Given the description of an element on the screen output the (x, y) to click on. 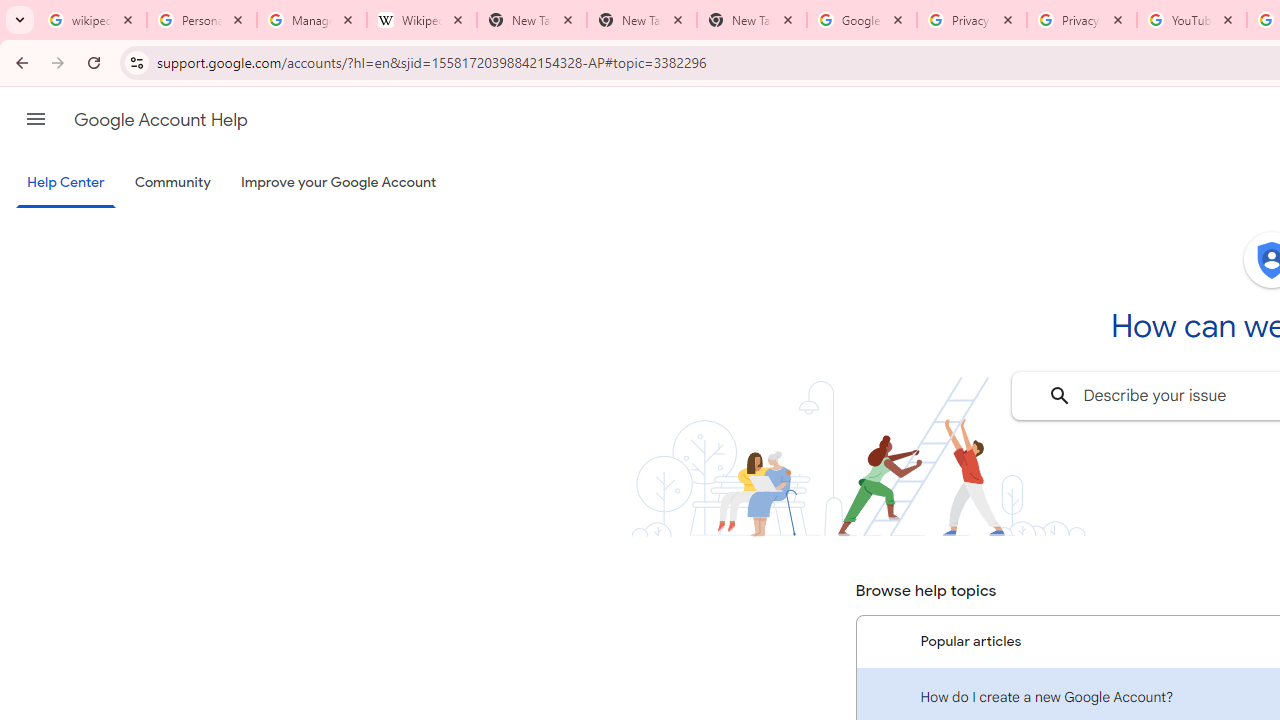
Wikipedia:Edit requests - Wikipedia (422, 20)
Improve your Google Account (339, 183)
Community (171, 183)
Personalization & Google Search results - Google Search Help (202, 20)
New Tab (642, 20)
Google Drive: Sign-in (861, 20)
Main menu (35, 119)
